Given the description of an element on the screen output the (x, y) to click on. 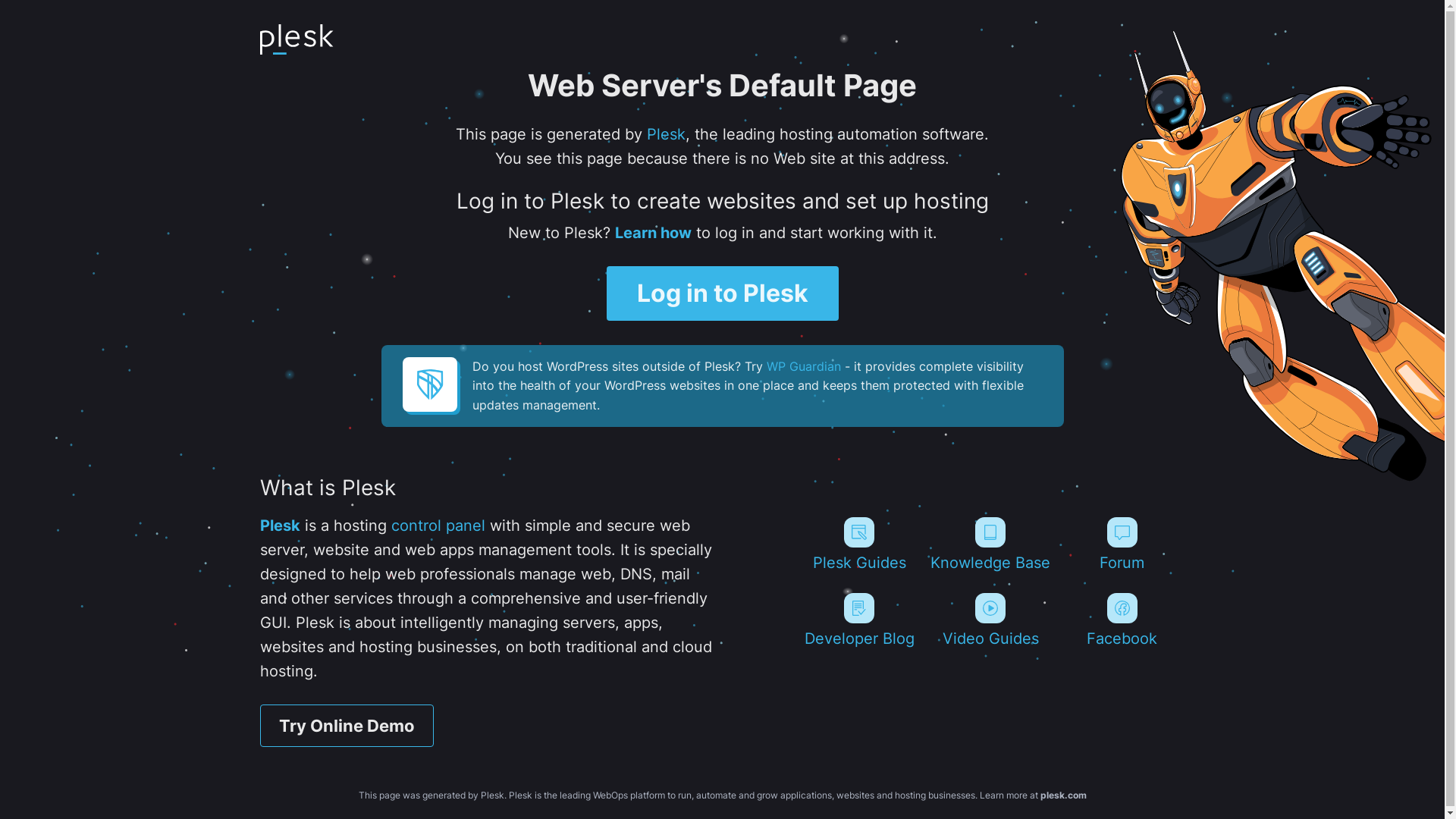
Video Guides Element type: text (990, 620)
Facebook Element type: text (1121, 620)
plesk.com Element type: text (1063, 794)
Plesk Element type: text (279, 525)
Developer Blog Element type: text (858, 620)
control panel Element type: text (438, 525)
WP Guardian Element type: text (802, 365)
Plesk Guides Element type: text (858, 544)
Forum Element type: text (1121, 544)
Plesk Element type: text (665, 134)
Knowledge Base Element type: text (990, 544)
Try Online Demo Element type: text (346, 725)
Learn how Element type: text (652, 232)
Log in to Plesk Element type: text (722, 293)
